Given the description of an element on the screen output the (x, y) to click on. 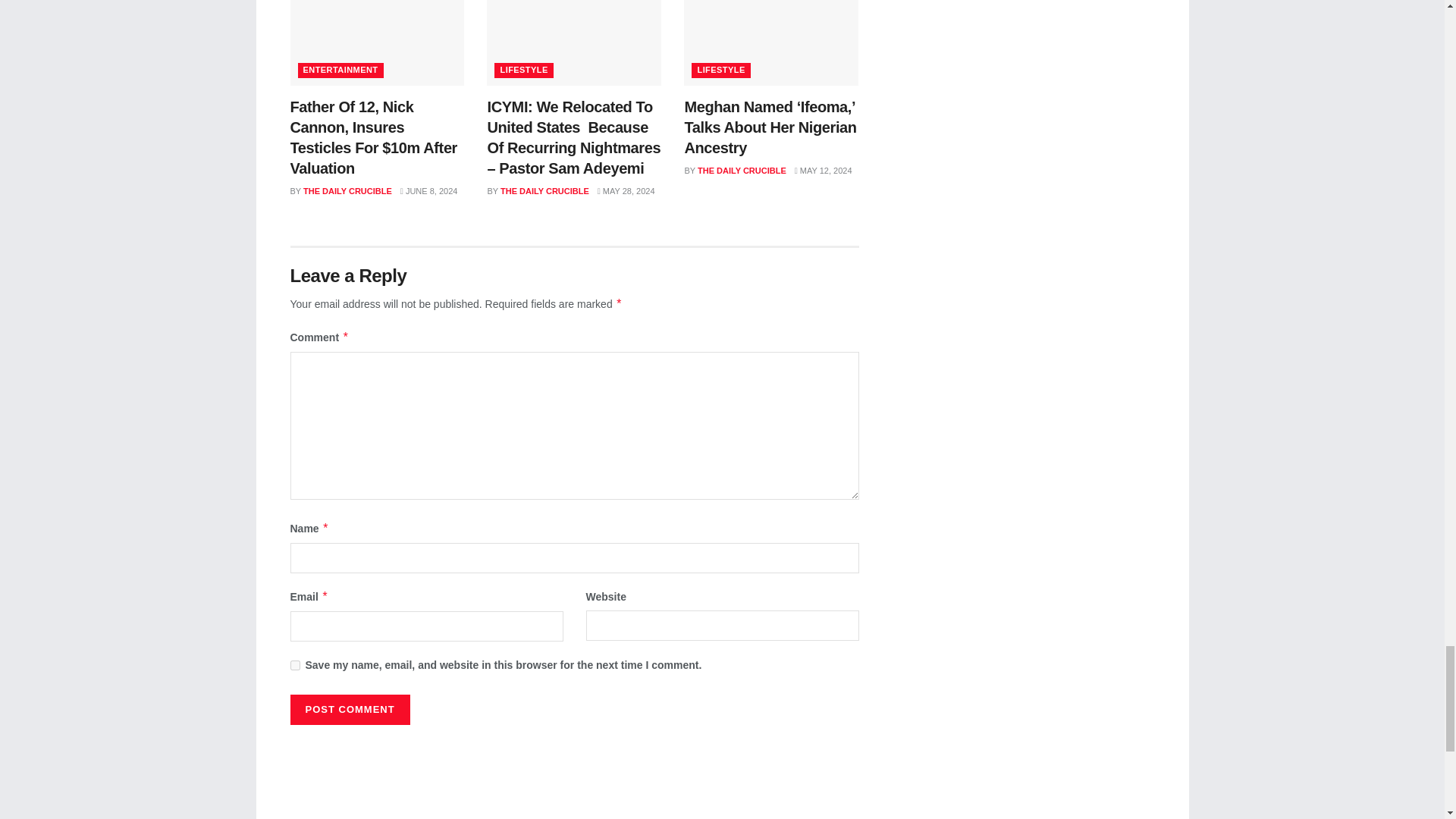
yes (294, 665)
Post Comment (349, 709)
